Given the description of an element on the screen output the (x, y) to click on. 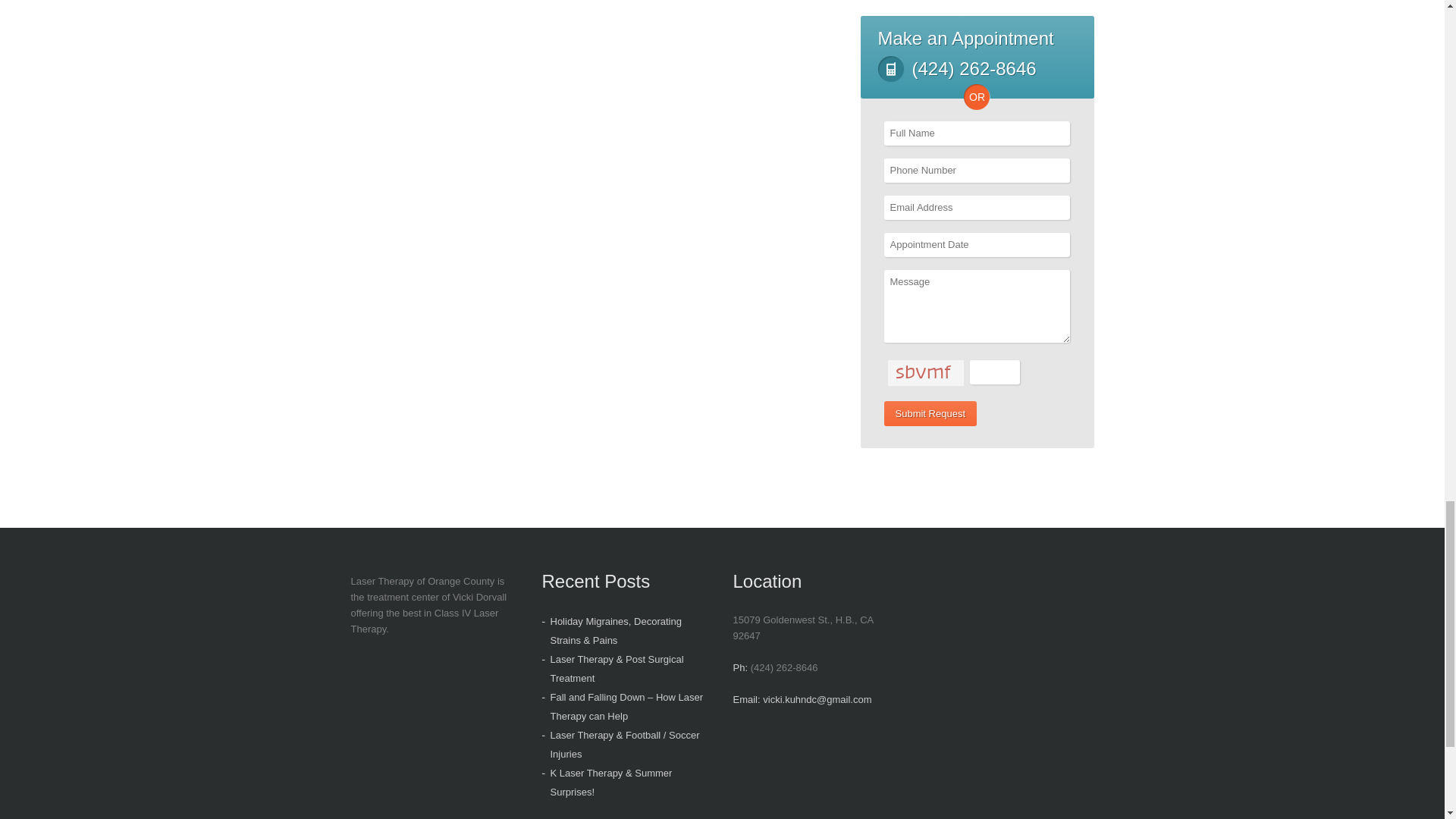
Submit Request (929, 413)
